Given the description of an element on the screen output the (x, y) to click on. 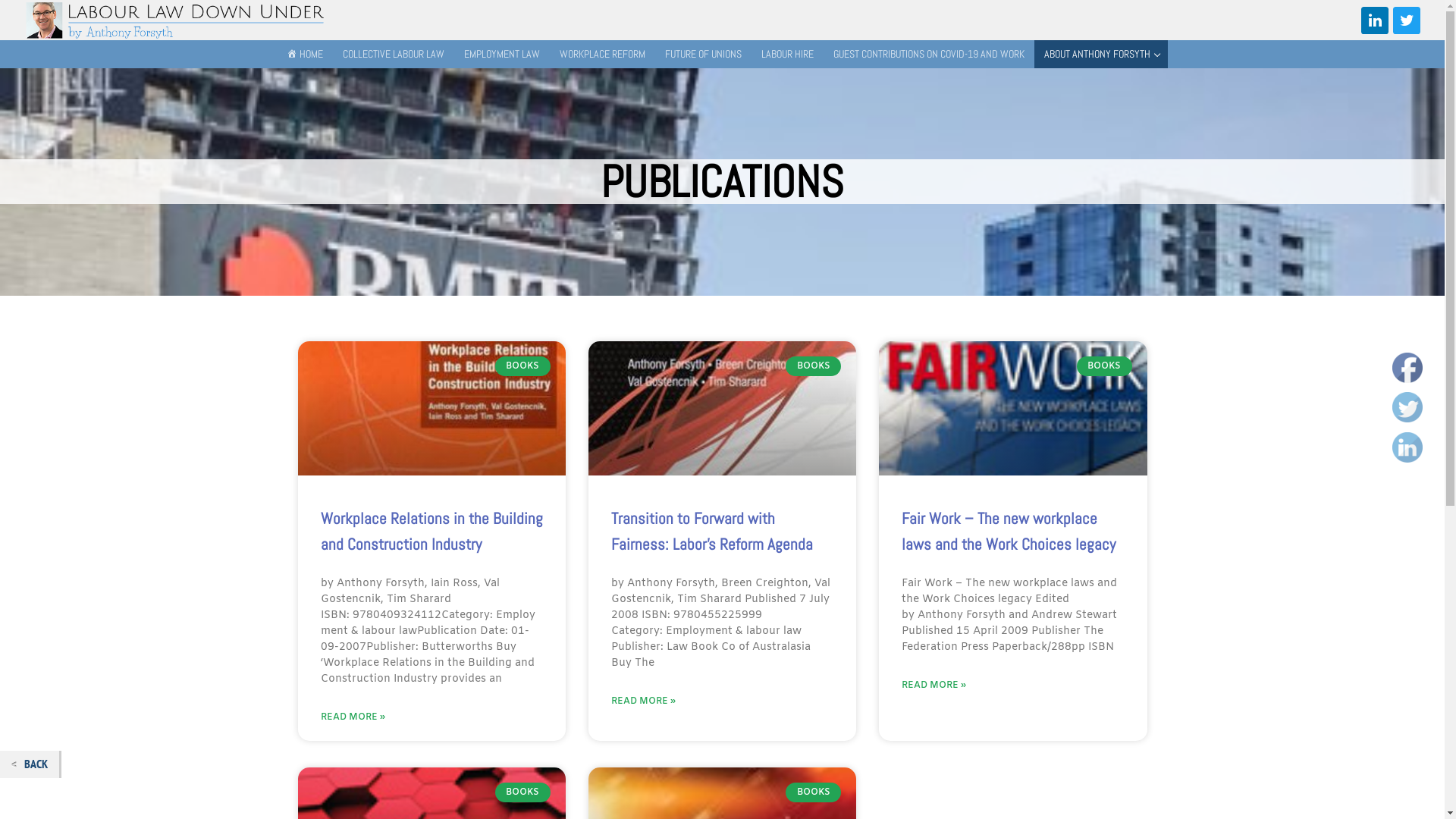
FACEBOOK Element type: hover (1407, 366)
LABOUR HIRE Element type: text (787, 54)
COLLECTIVE LABOUR LAW Element type: text (393, 54)
BACK Element type: text (29, 764)
FUTURE OF UNIONS Element type: text (703, 54)
Twitter Element type: hover (1406, 20)
HOME Element type: text (304, 54)
ABOUT ANTHONY FORSYTH
  Element type: text (1100, 54)
LinkedIn Element type: hover (1374, 20)
WORKPLACE REFORM Element type: text (602, 54)
EMPLOYMENT LAW Element type: text (501, 54)
LinkedIn Element type: hover (1407, 447)
GUEST CONTRIBUTIONS ON COVID-19 AND WORK Element type: text (928, 54)
Twitter Element type: hover (1407, 407)
